Given the description of an element on the screen output the (x, y) to click on. 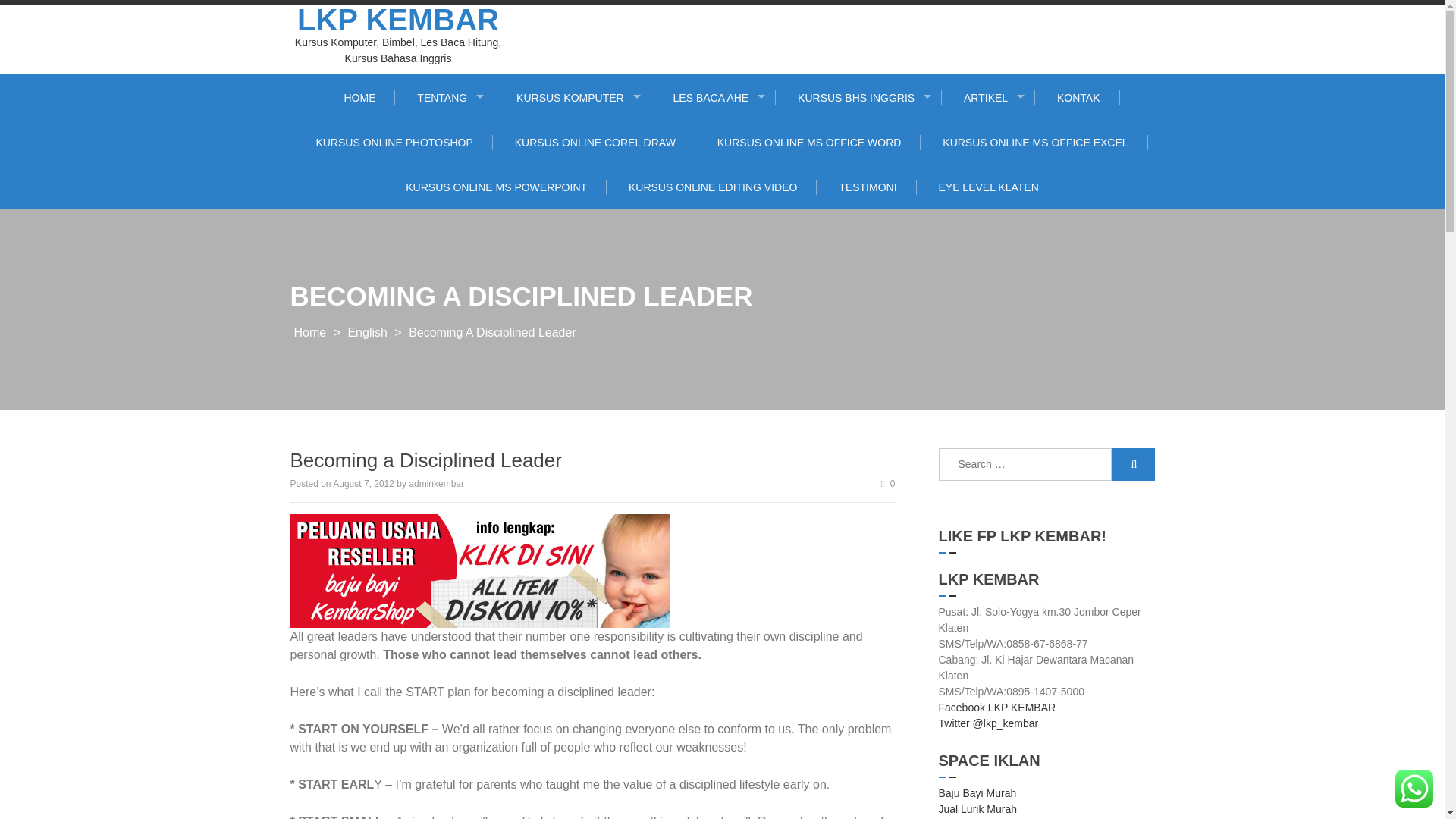
TESTIMONI (867, 186)
LES BACA AHE (714, 97)
EYE LEVEL KLATEN (987, 186)
KURSUS BHS INGGRIS (860, 97)
Search (1133, 463)
KURSUS ONLINE PHOTOSHOP (394, 142)
KONTAK (1078, 97)
KURSUS ONLINE MS OFFICE EXCEL (1035, 142)
HOME (359, 97)
KURSUS ONLINE MS OFFICE WORD (809, 142)
LKP KEMBAR (398, 19)
English (366, 332)
KURSUS ONLINE MS POWERPOINT (497, 186)
TENTANG (446, 97)
KURSUS KOMPUTER (573, 97)
